Given the description of an element on the screen output the (x, y) to click on. 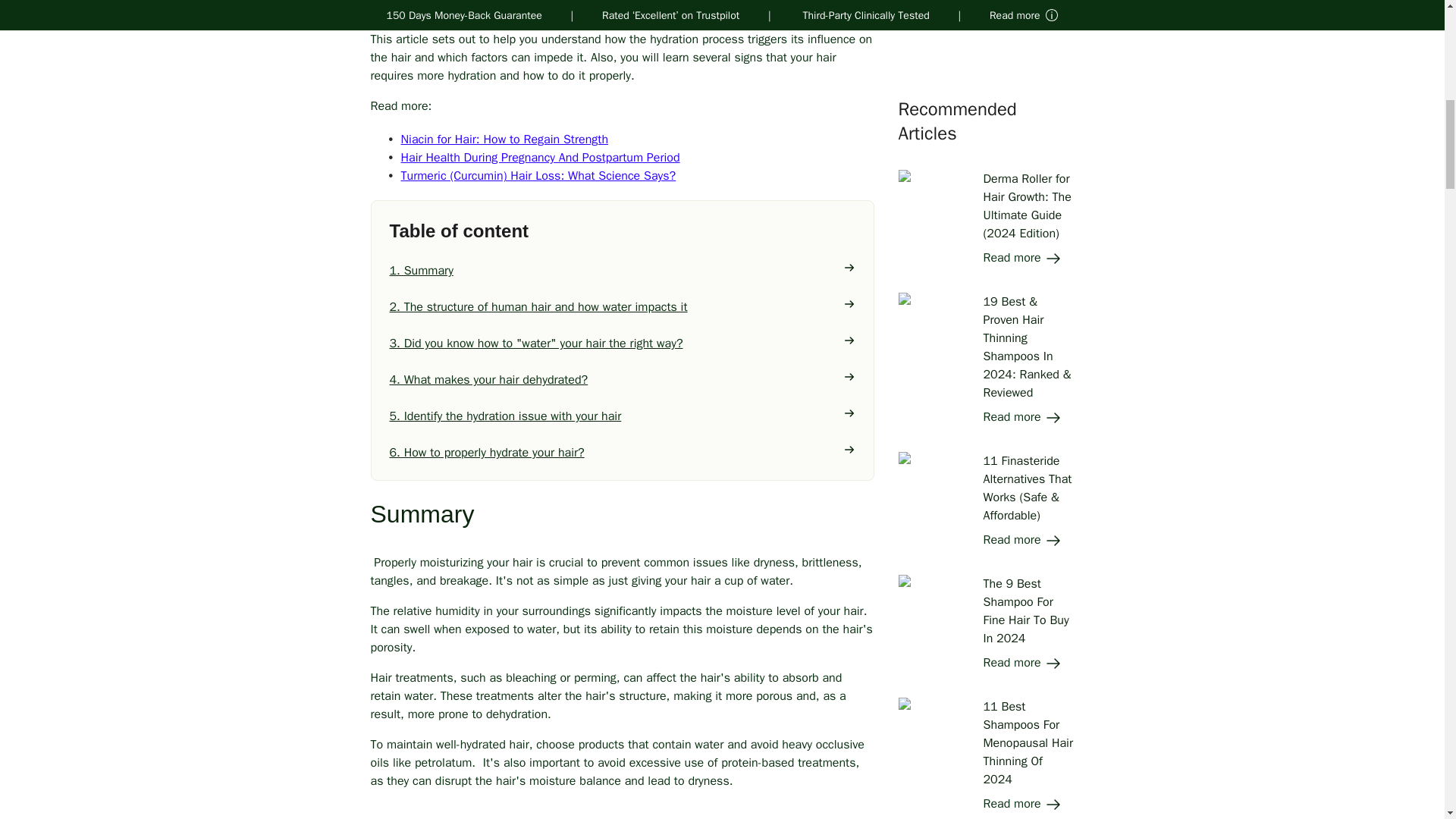
4. What makes your hair dehydrated? (623, 380)
3. Did you know how to "water" your hair the right way? (623, 343)
Niacin for Hair: How to Regain Strength (504, 139)
2. The structure of human hair and how water impacts it (623, 307)
1. Summary (623, 270)
Hair Health During Pregnancy And Postpartum Period (539, 157)
6. How to properly hydrate your hair? (623, 452)
5. Identify the hydration issue with your hair (623, 416)
Read more (1022, 15)
